Given the description of an element on the screen output the (x, y) to click on. 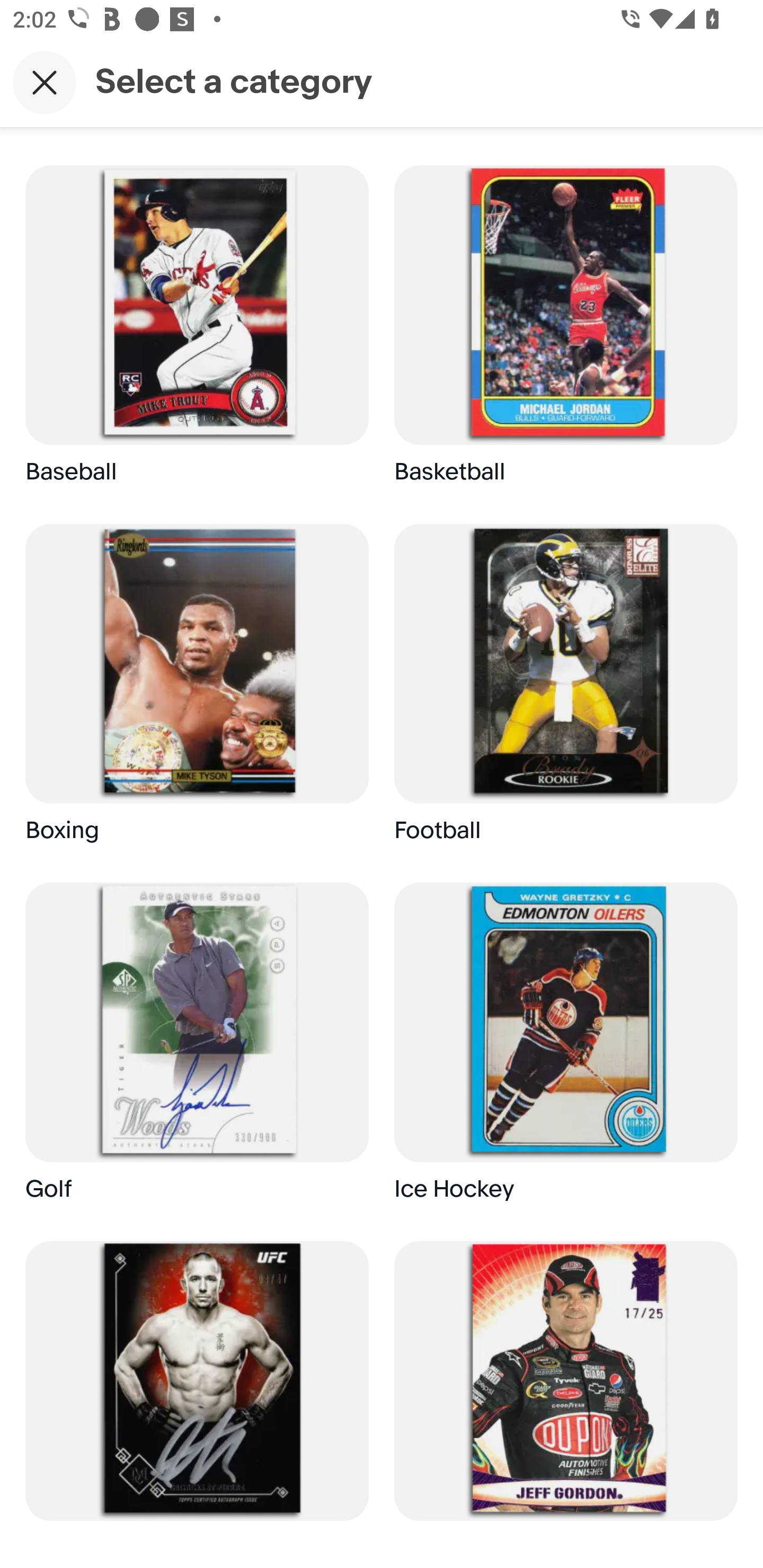
Close (44, 82)
Baseball (196, 331)
Basketball (565, 331)
Boxing (196, 690)
Football (565, 690)
Golf (196, 1048)
Ice Hockey (565, 1048)
